Given the description of an element on the screen output the (x, y) to click on. 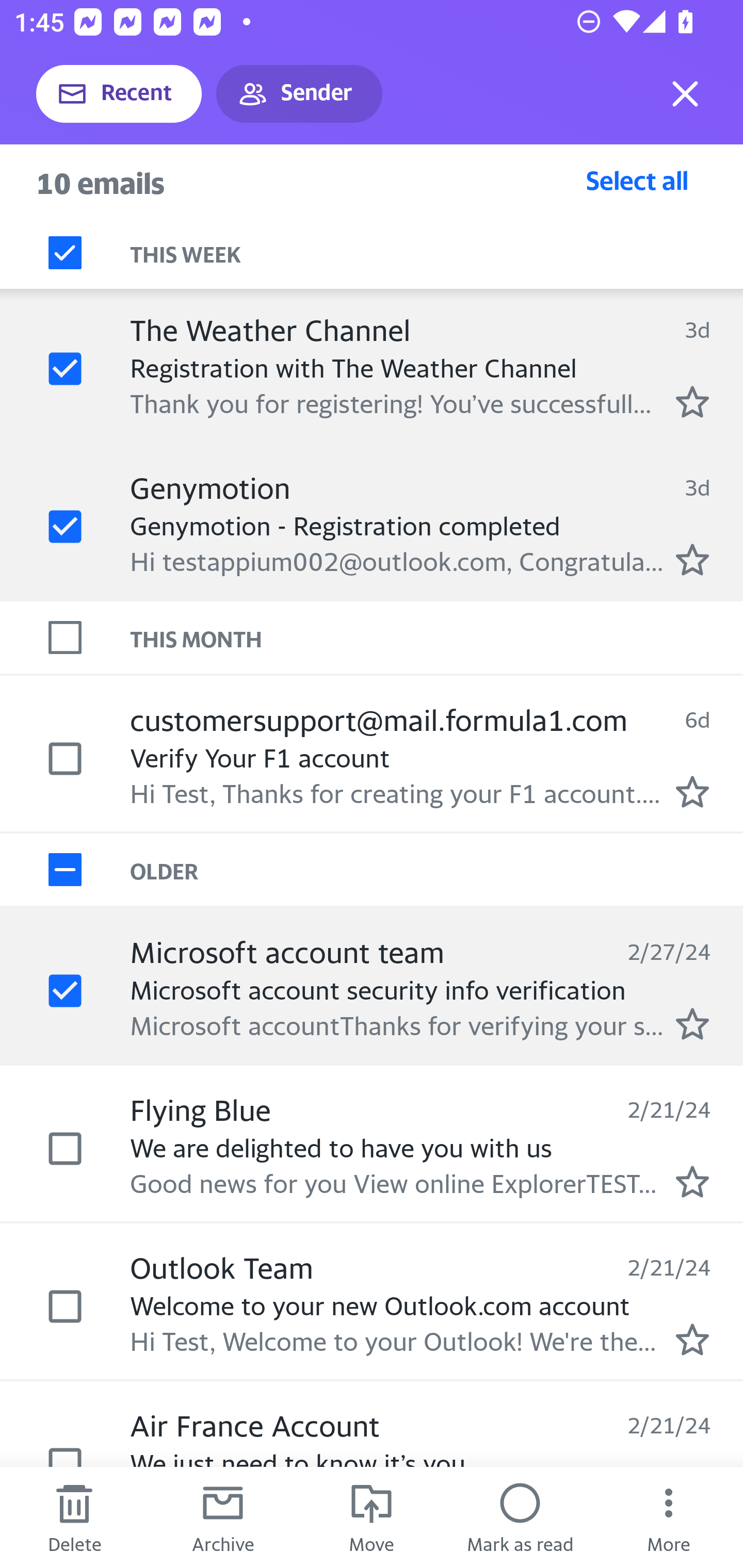
Sender (299, 93)
Exit selection mode (684, 93)
Select all (637, 180)
Mark as starred. (692, 402)
Mark as starred. (692, 558)
THIS MONTH (436, 637)
Mark as starred. (692, 791)
OLDER (436, 869)
Mark as starred. (692, 1023)
Mark as starred. (692, 1181)
Mark as starred. (692, 1339)
Delete (74, 1517)
Archive (222, 1517)
Move (371, 1517)
Mark as read (519, 1517)
More (668, 1517)
